Given the description of an element on the screen output the (x, y) to click on. 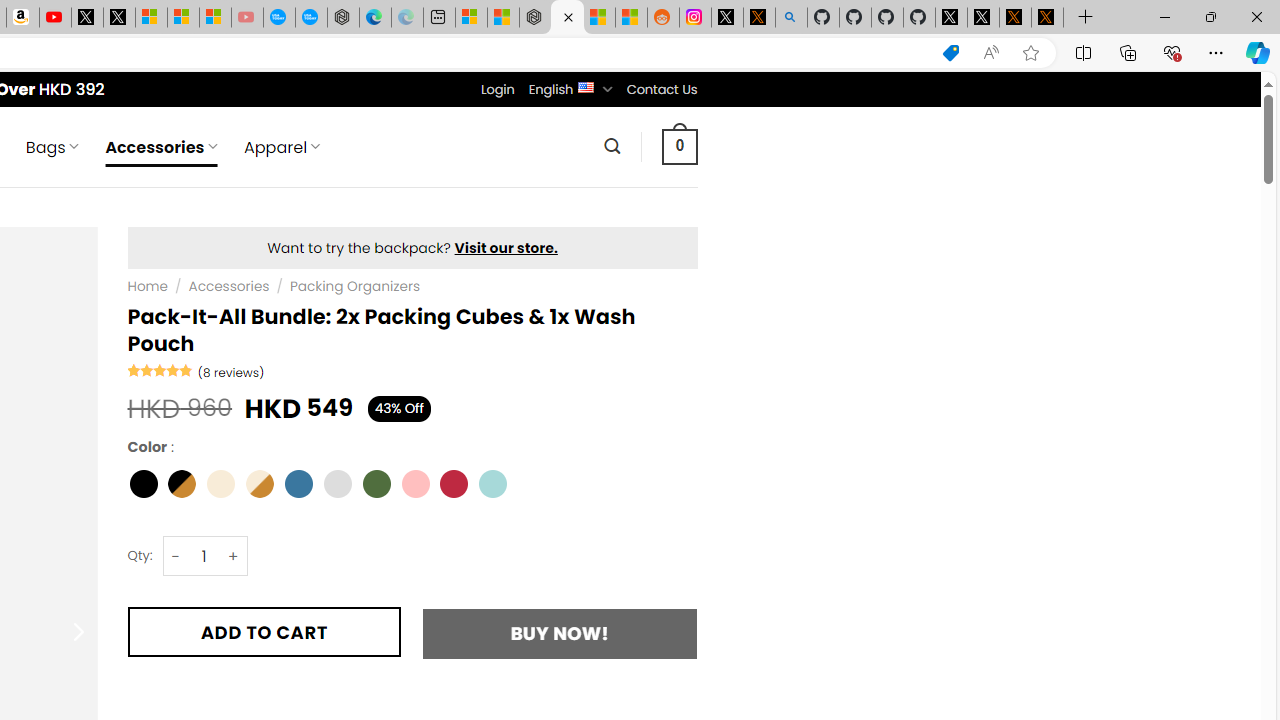
Home (147, 286)
Opinion: Op-Ed and Commentary - USA TODAY (279, 17)
GitHub (@github) / X (983, 17)
Contact Us (661, 89)
Shanghai, China Weather trends | Microsoft Weather (630, 17)
ADD TO CART (263, 632)
Login (497, 89)
The most popular Google 'how to' searches (310, 17)
